Given the description of an element on the screen output the (x, y) to click on. 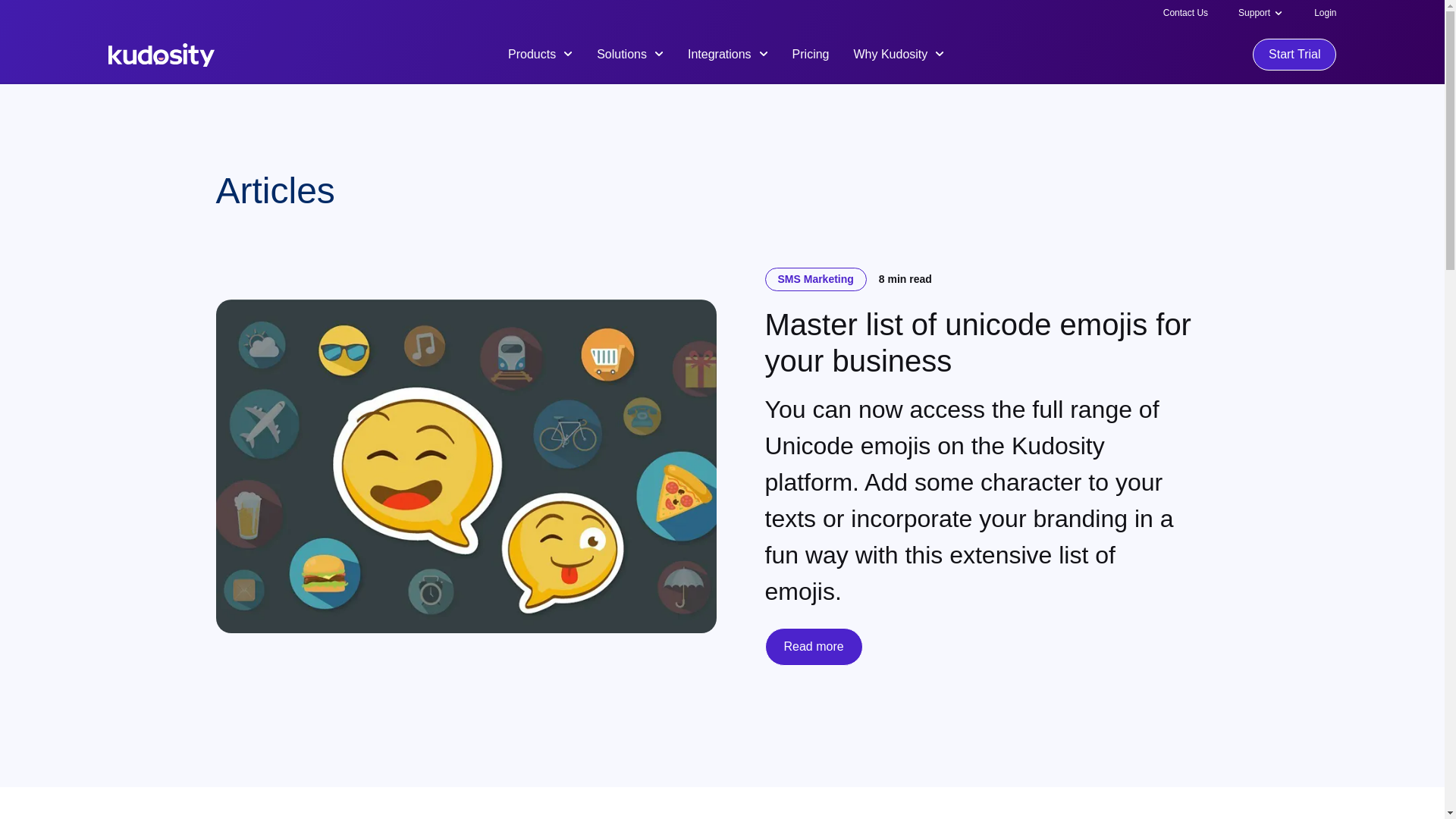
Solutions (629, 54)
Login (1325, 12)
Support (1254, 12)
Kudosity (160, 54)
Contact Us (1185, 12)
Products (540, 54)
